Given the description of an element on the screen output the (x, y) to click on. 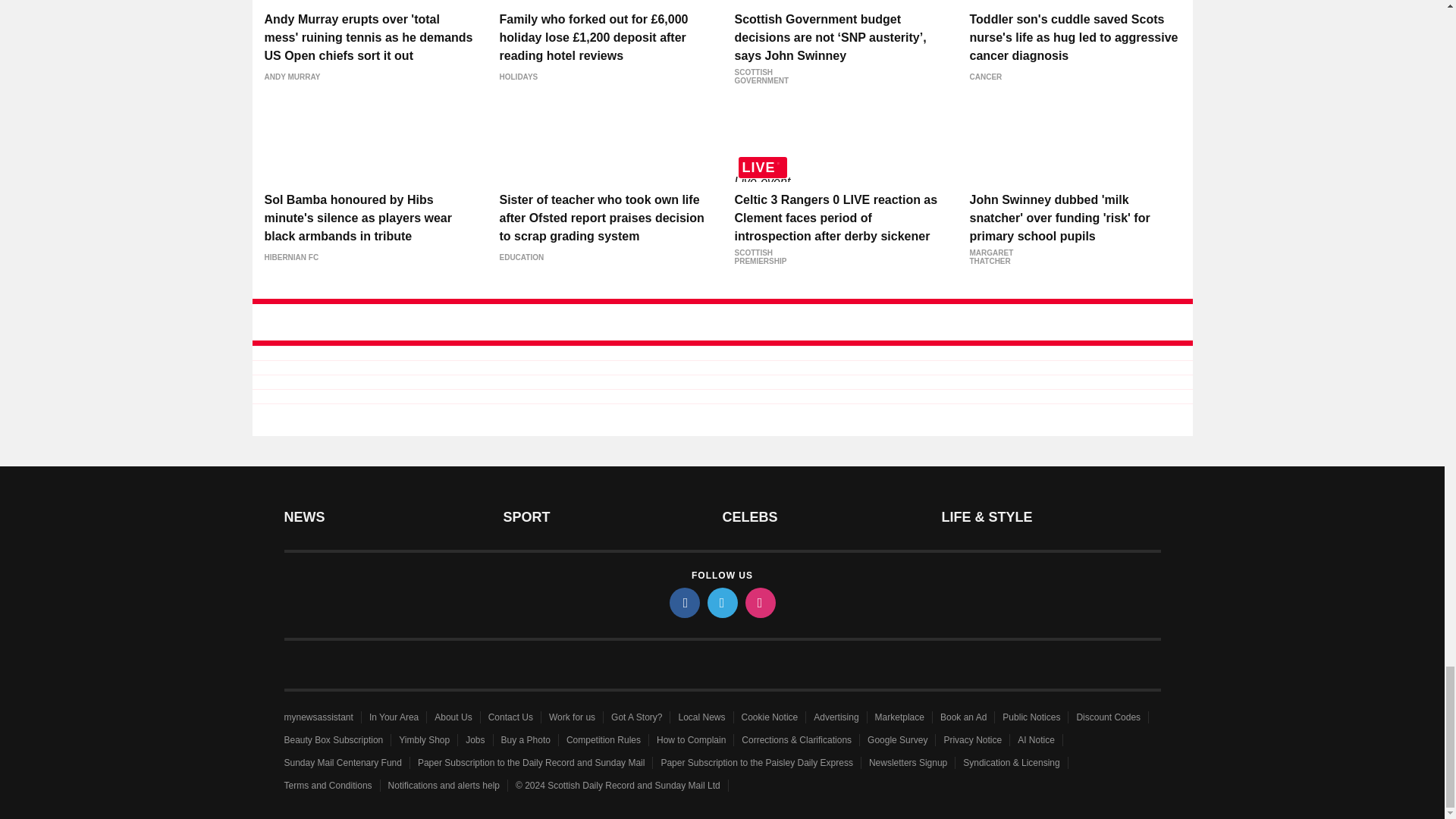
twitter (721, 603)
instagram (759, 603)
facebook (683, 603)
